Given the description of an element on the screen output the (x, y) to click on. 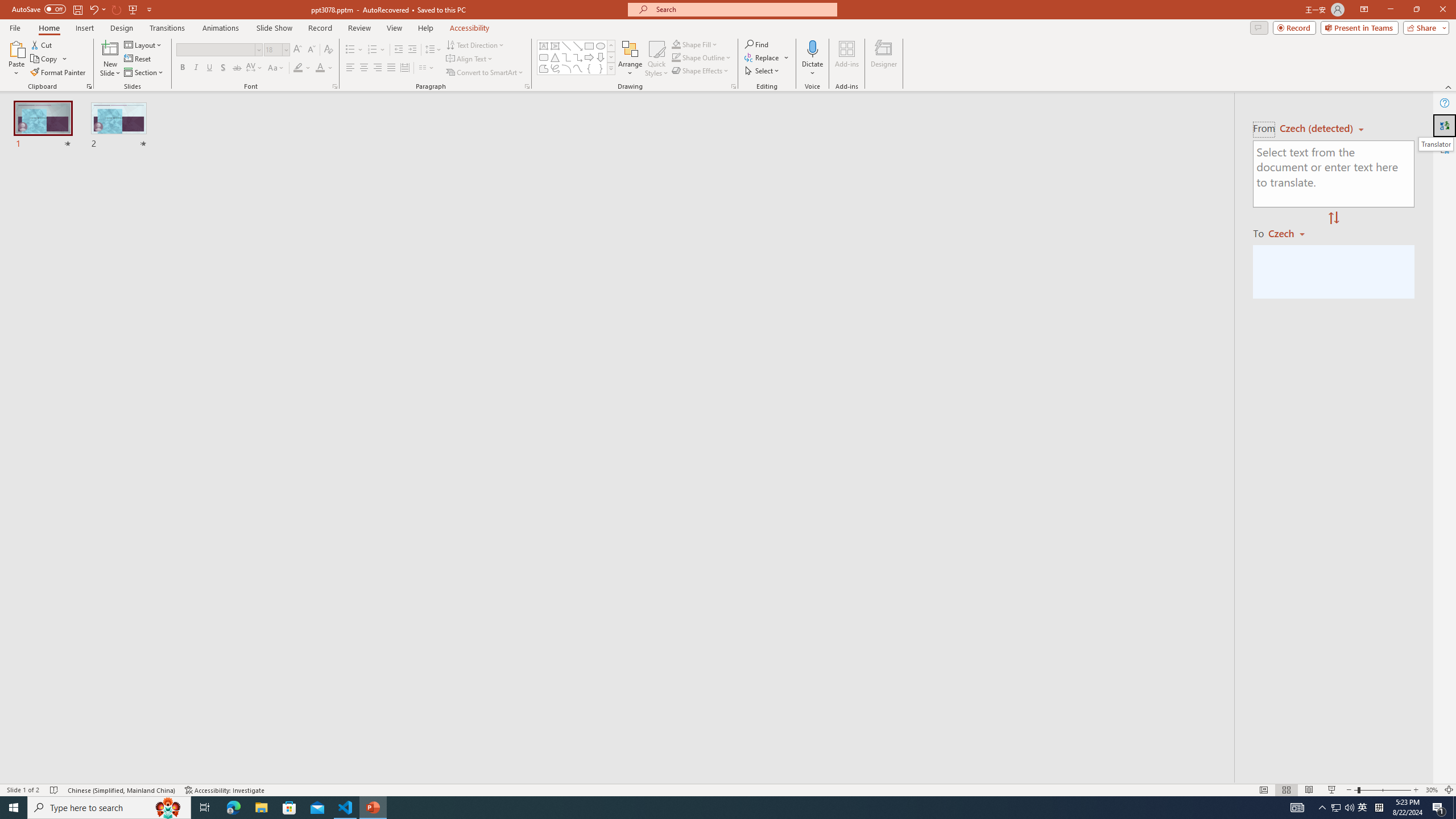
Arrange (630, 58)
View (395, 28)
Find... (756, 44)
Text Highlight Color (302, 67)
Left Brace (589, 68)
Shapes (611, 68)
New Slide (110, 48)
Paragraph... (526, 85)
Rectangle (589, 45)
Present in Teams (1359, 27)
Swap "from" and "to" languages. (1333, 218)
Paste (16, 48)
